Given the description of an element on the screen output the (x, y) to click on. 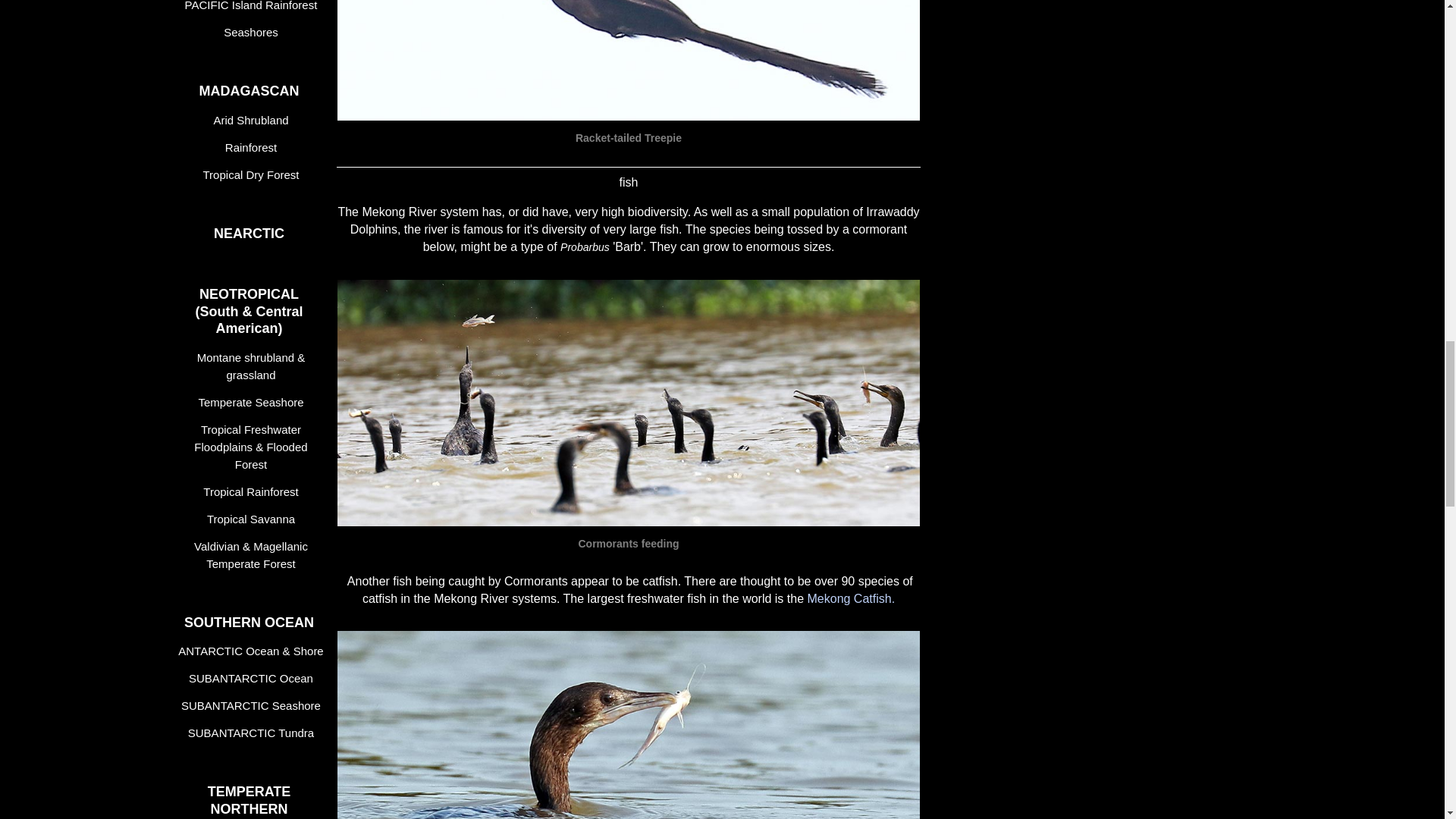
Arid Shrubland (253, 119)
Seashores (253, 32)
Rainforest (253, 147)
Tropical Dry Forest (253, 174)
Mekong Catfish. (850, 598)
PACIFIC Island Rainforest (253, 8)
